Given the description of an element on the screen output the (x, y) to click on. 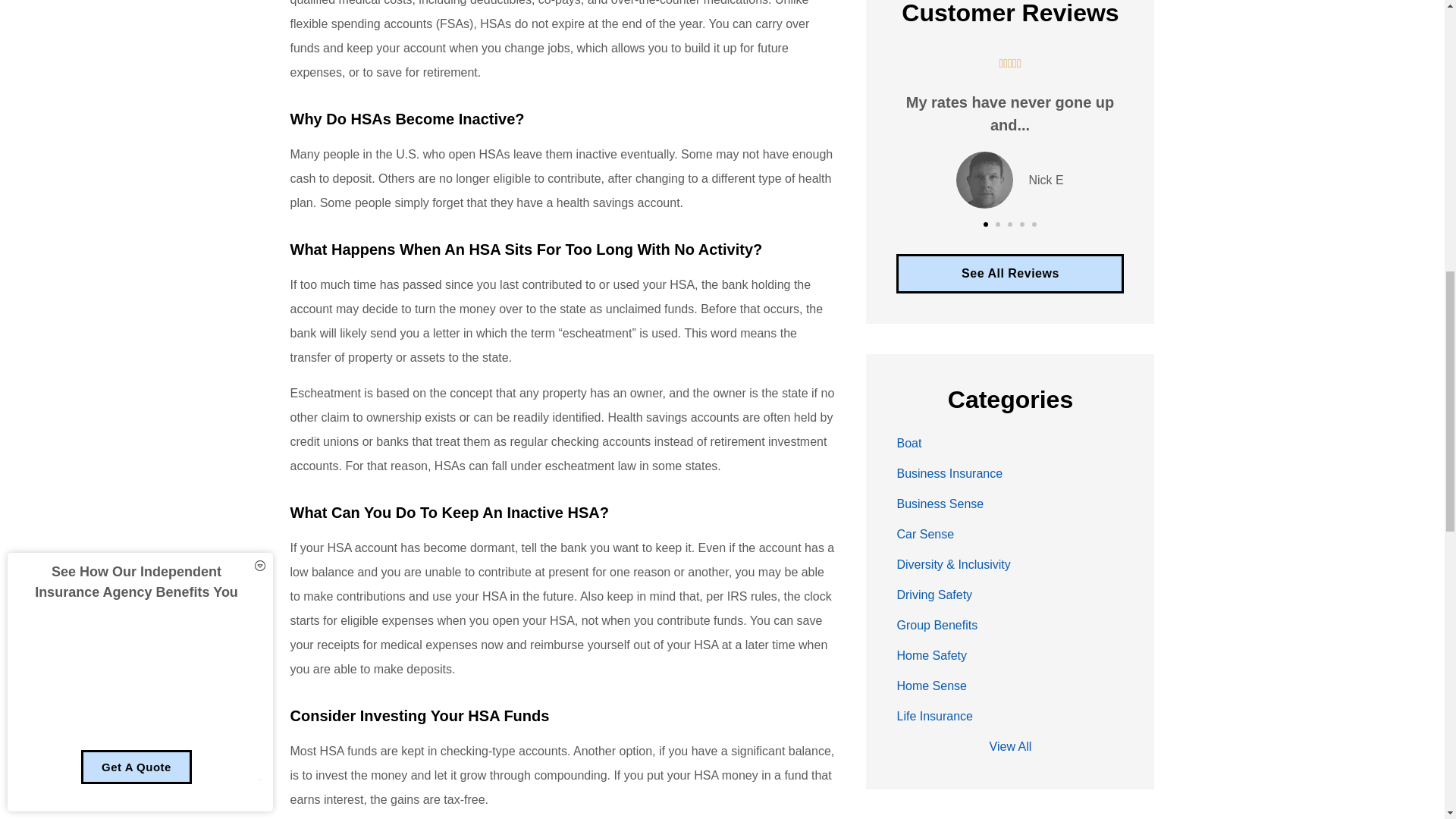
Nick Eli (984, 179)
